Given the description of an element on the screen output the (x, y) to click on. 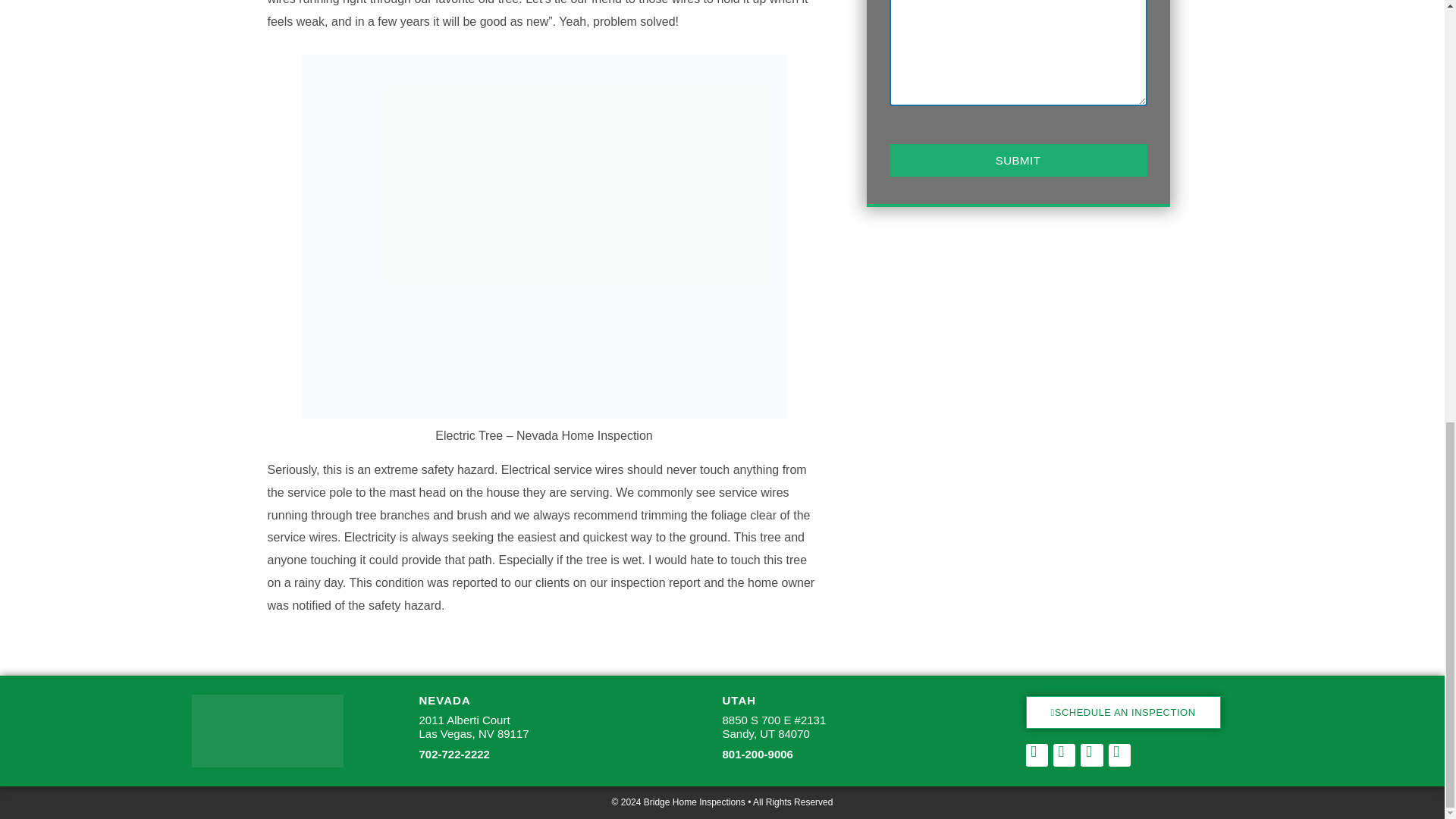
702-722-2222 (454, 753)
SCHEDULE AN INSPECTION (473, 726)
801-200-9006 (1122, 712)
SUBMIT (757, 753)
Instagram (1017, 160)
